Given the description of an element on the screen output the (x, y) to click on. 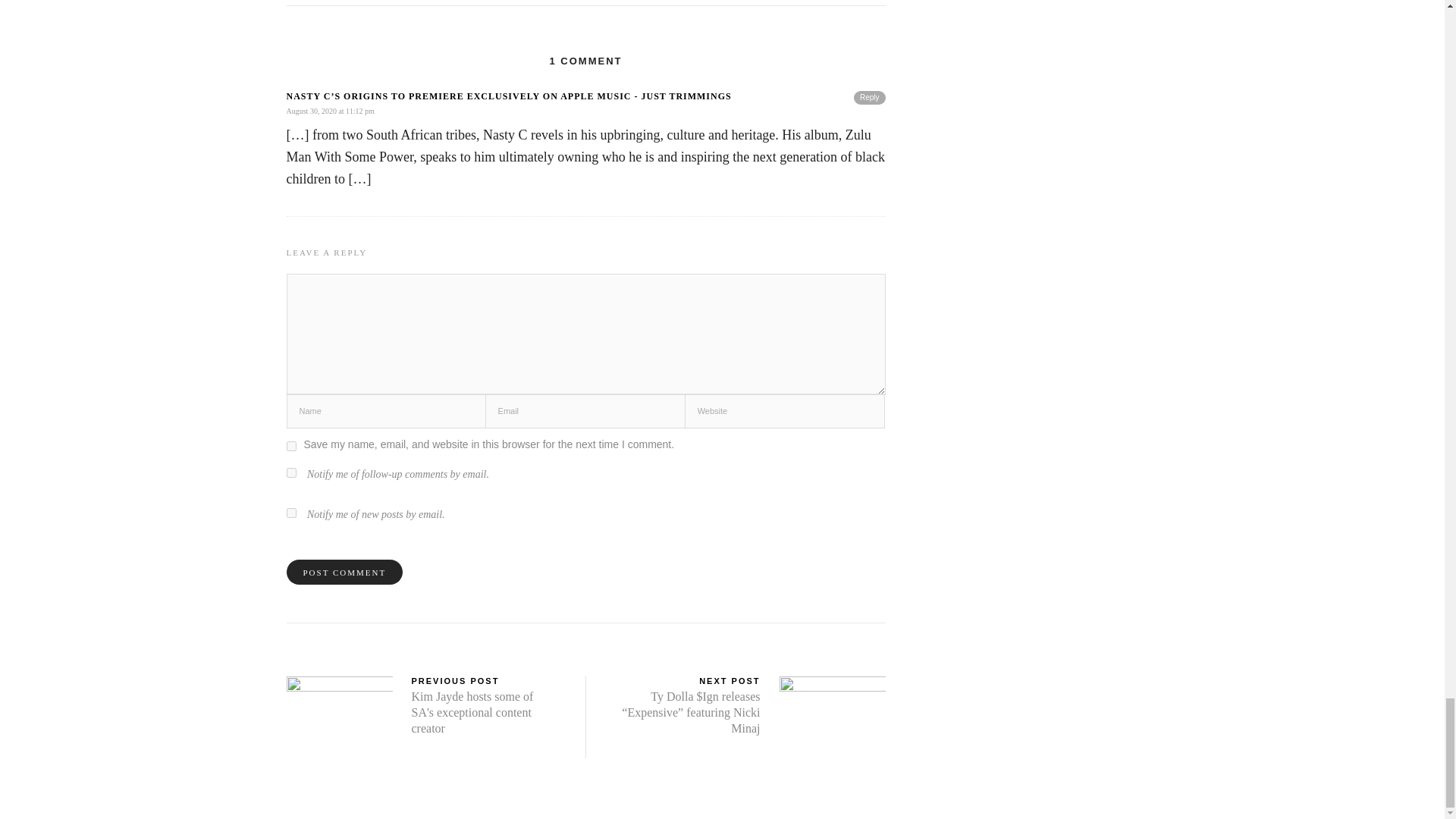
subscribe (291, 472)
Post Comment (344, 571)
subscribe (291, 512)
yes (291, 446)
